Given the description of an element on the screen output the (x, y) to click on. 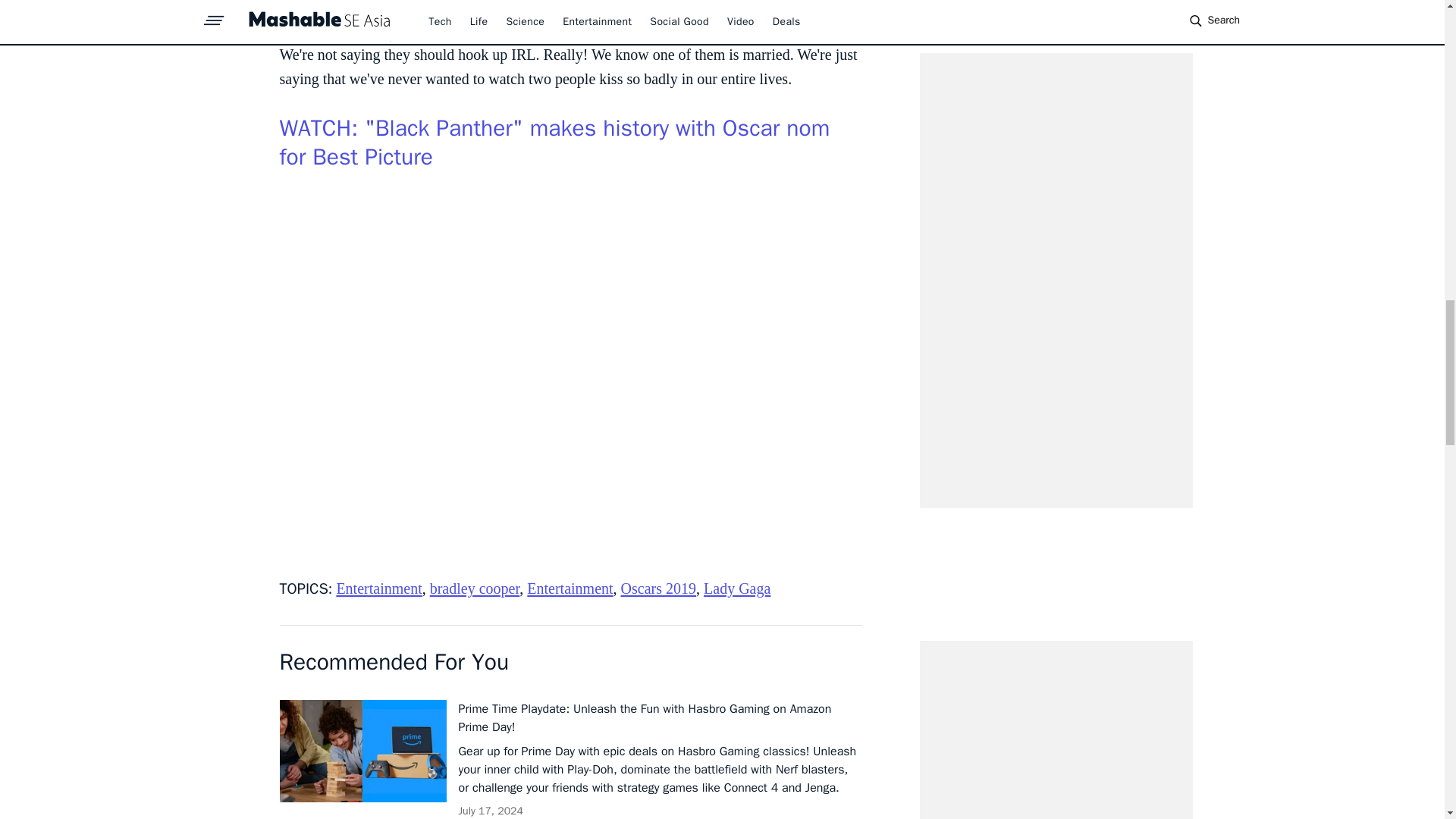
Entertainment (379, 588)
bradley cooper (474, 588)
Entertainment (569, 588)
Lady Gaga (736, 588)
February 25, 2019 (529, 17)
Oscars 2019 (658, 588)
